Given the description of an element on the screen output the (x, y) to click on. 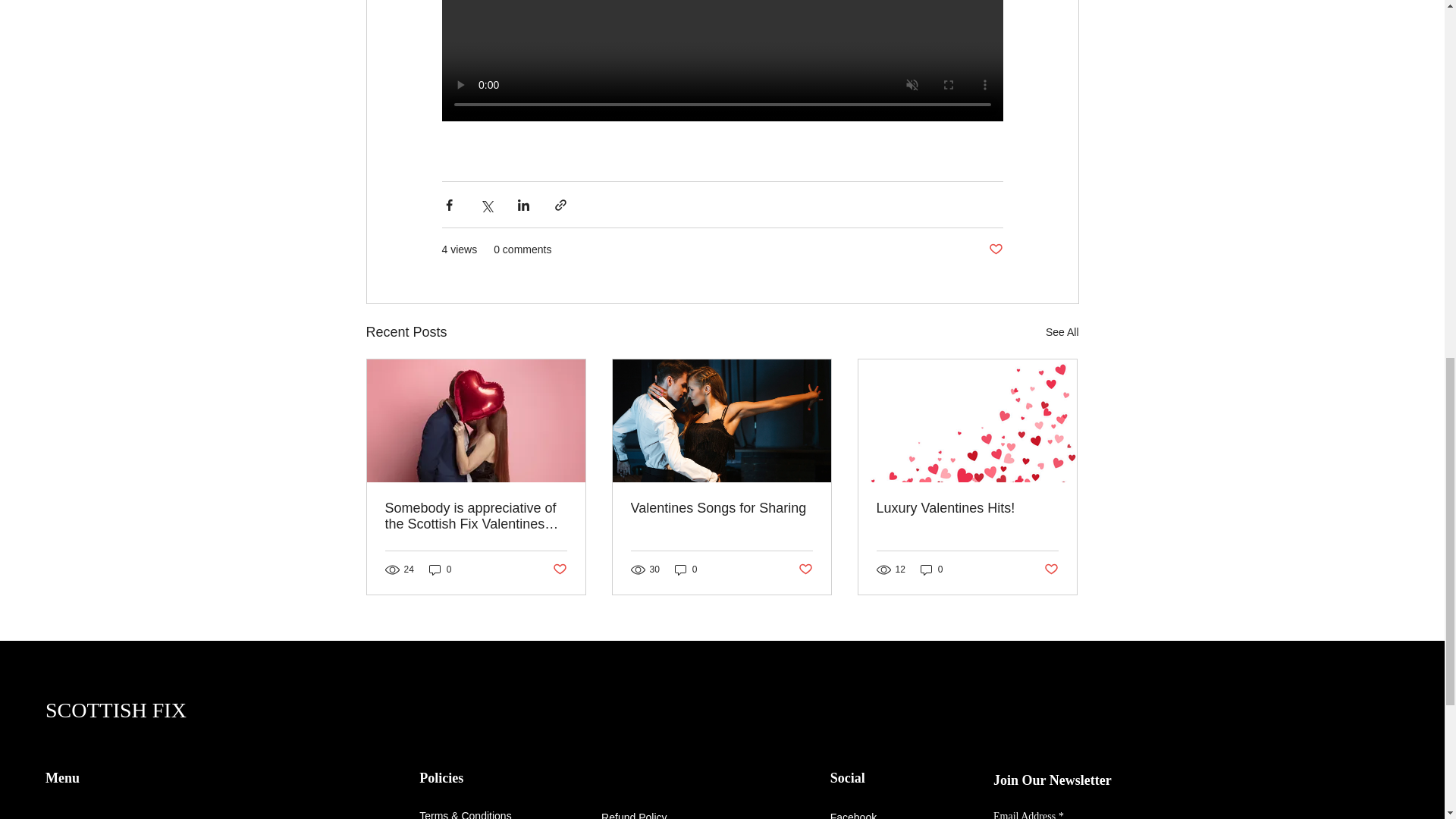
0 (440, 569)
Luxury Valentines Hits! (967, 508)
Refund Policy (633, 815)
0 (931, 569)
Post not marked as liked (995, 249)
Valentines Songs for Sharing (721, 508)
0 (685, 569)
Facebook (852, 815)
Post not marked as liked (1050, 569)
Post not marked as liked (558, 569)
Somebody is appreciative of the Scottish Fix Valentines Gift (476, 516)
See All (1061, 332)
Post not marked as liked (804, 569)
